Given the description of an element on the screen output the (x, y) to click on. 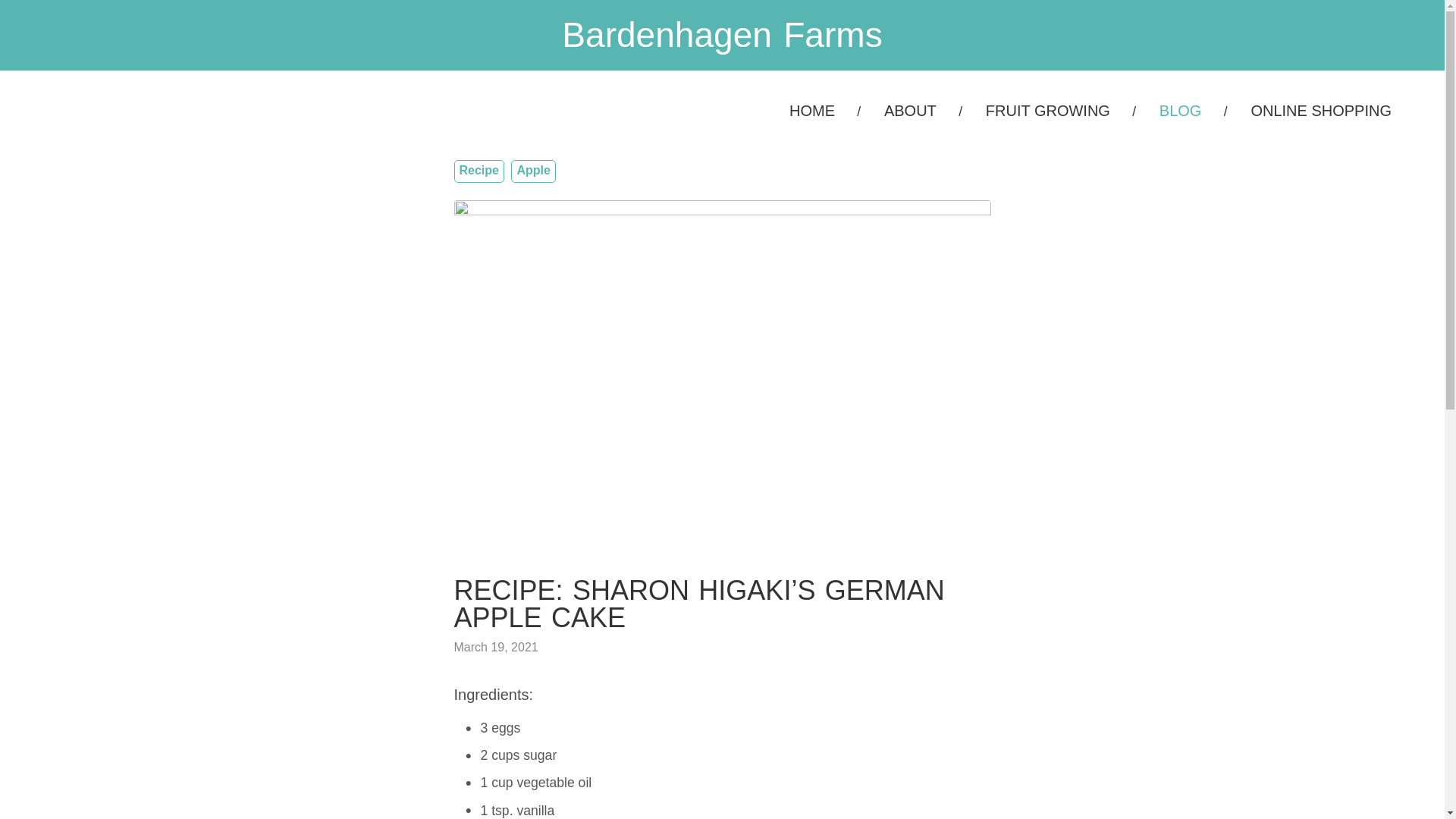
Apple (533, 170)
ABOUT (909, 110)
Recipe (478, 170)
ONLINE SHOPPING (1321, 110)
HOME (812, 110)
FRUIT GROWING (1048, 110)
Bardenhagen Farms (722, 34)
BLOG (1180, 110)
